Given the description of an element on the screen output the (x, y) to click on. 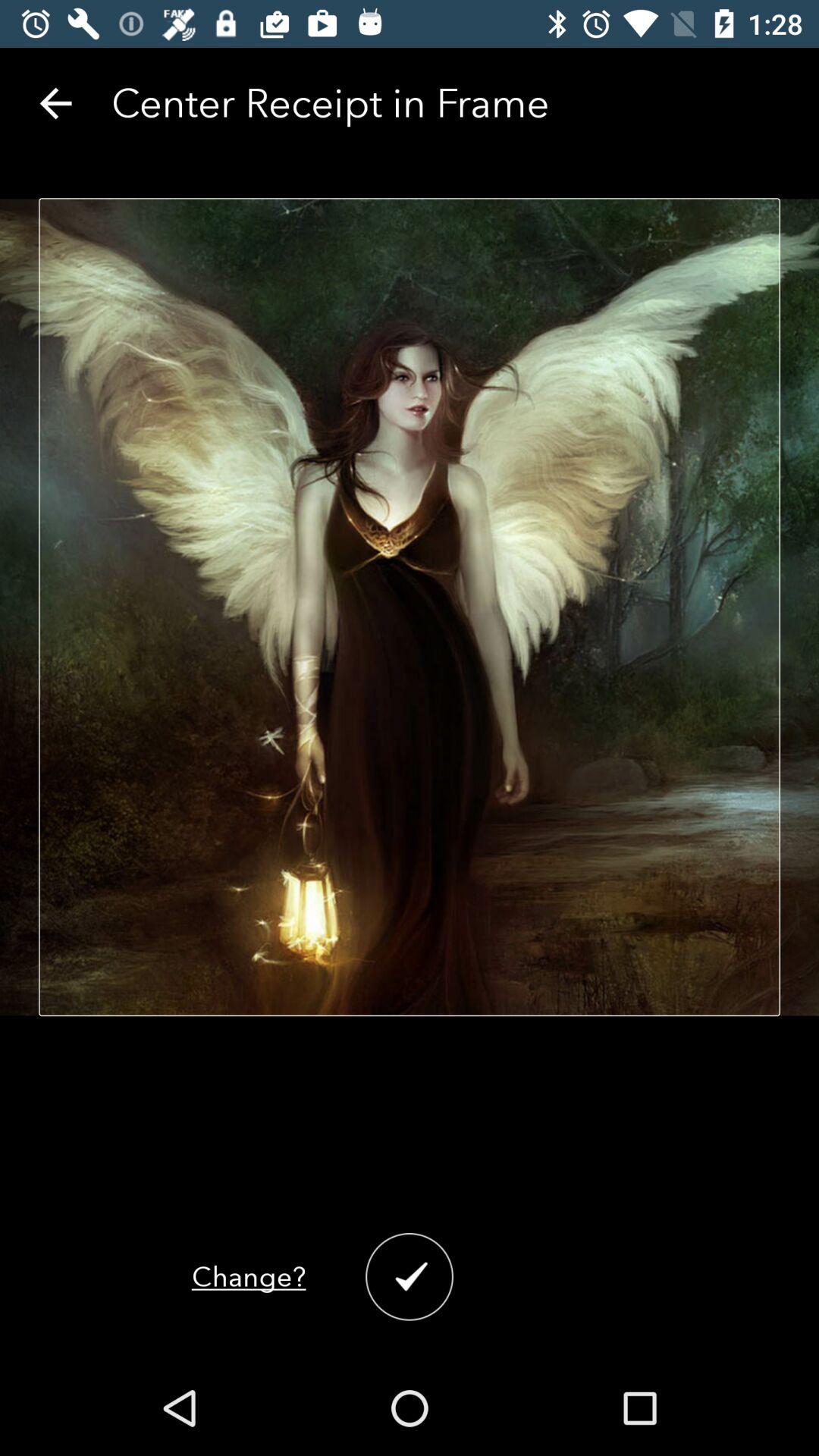
tap icon next to change? (409, 1276)
